Given the description of an element on the screen output the (x, y) to click on. 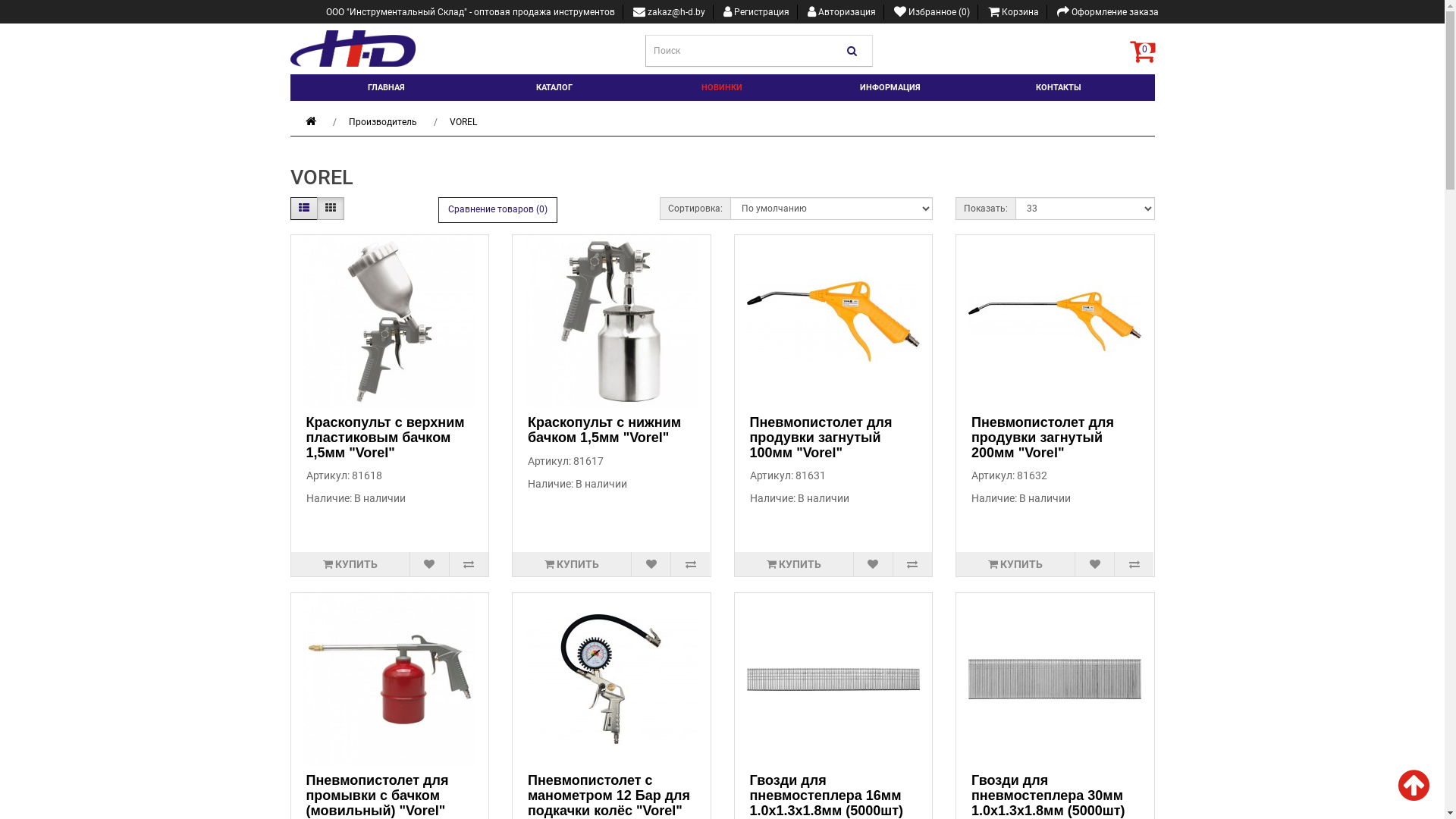
0 Element type: text (1141, 50)
VOREL Element type: text (462, 121)
